Given the description of an element on the screen output the (x, y) to click on. 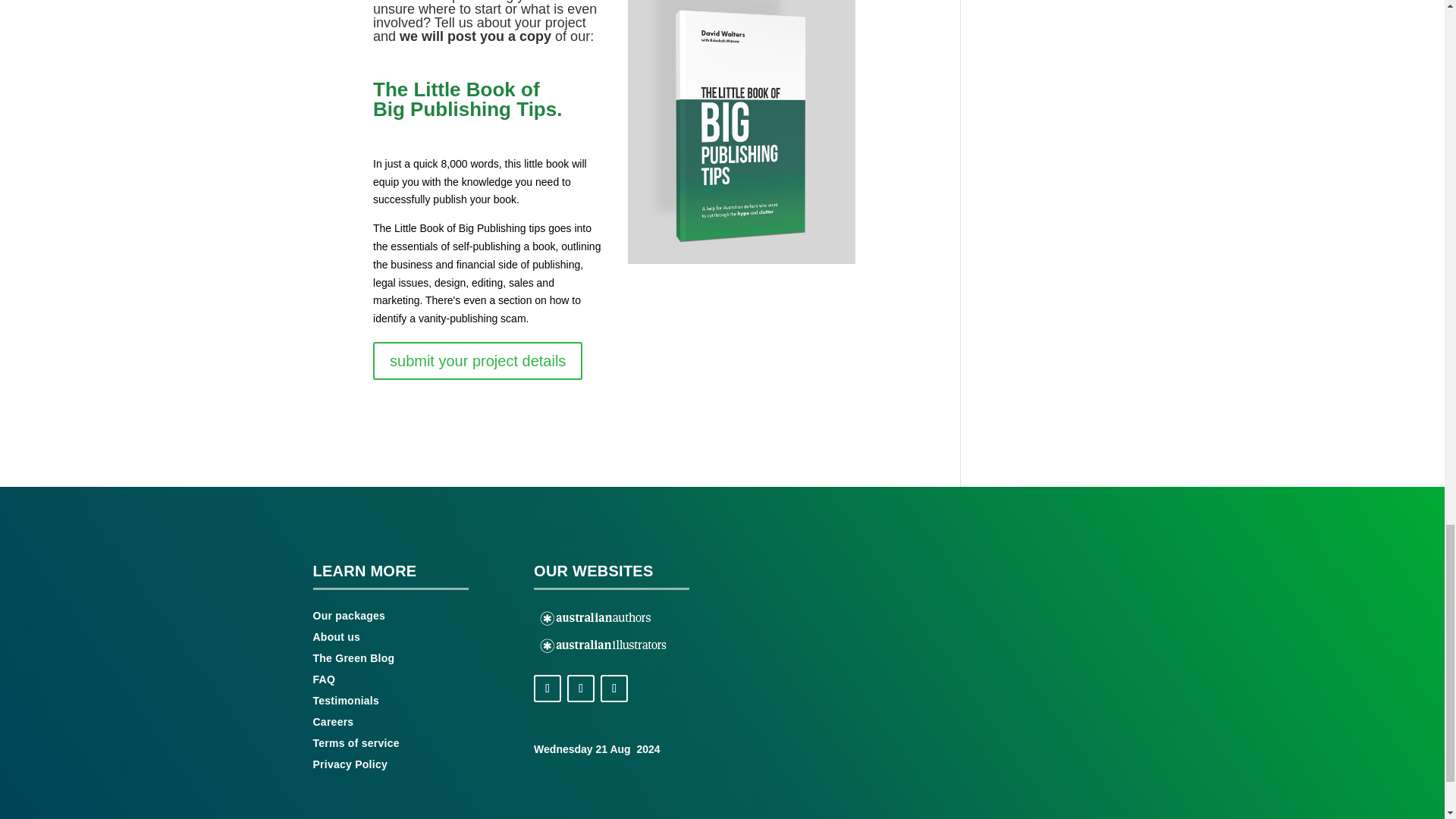
Australian authors store (596, 618)
Australian Illustrators Store (603, 646)
Follow on Instagram (580, 687)
Follow on LinkedIn (613, 687)
Follow on Facebook (547, 687)
